Given the description of an element on the screen output the (x, y) to click on. 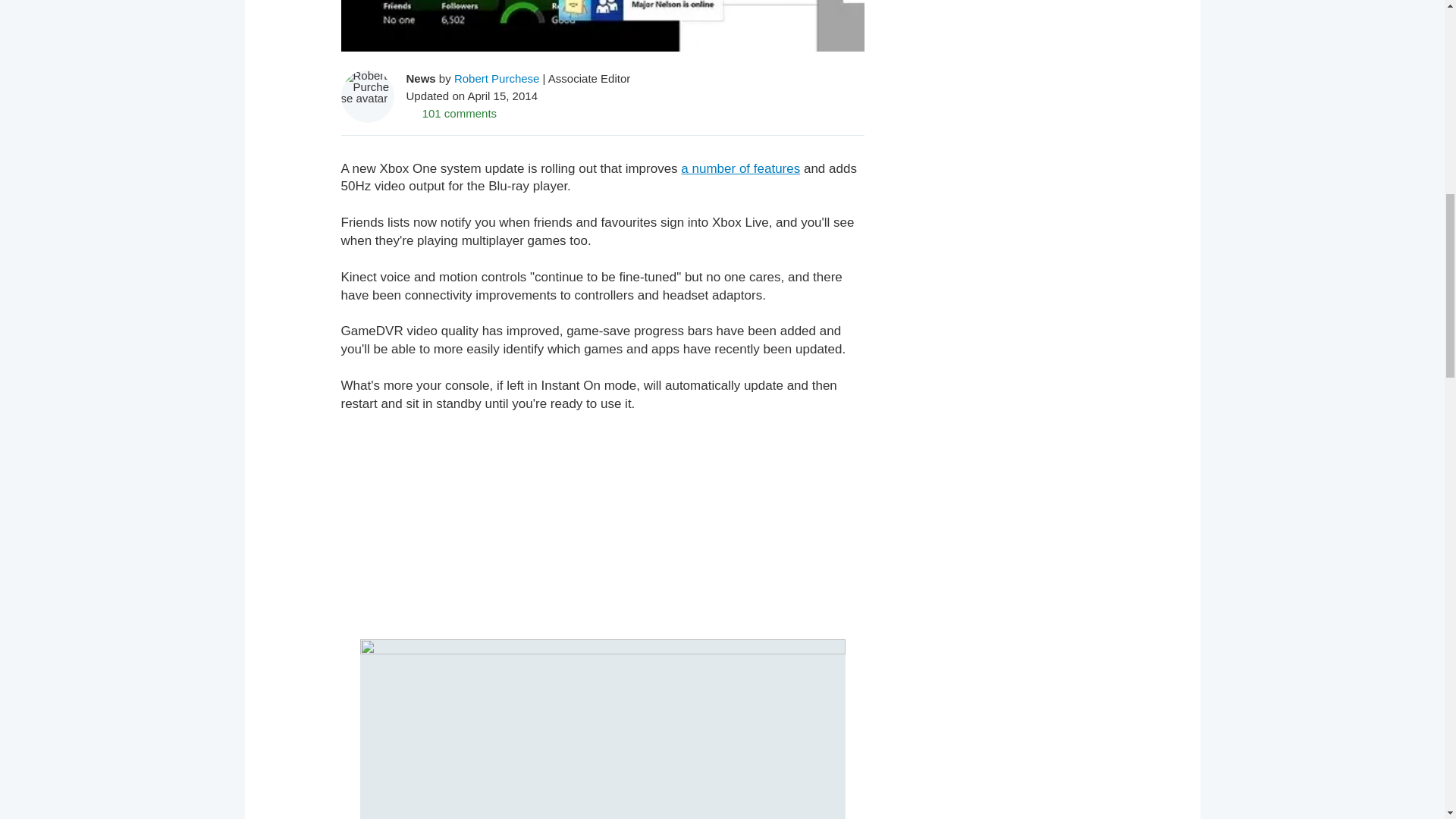
a number of features (740, 168)
Robert Purchese (497, 78)
101 comments (451, 113)
